Given the description of an element on the screen output the (x, y) to click on. 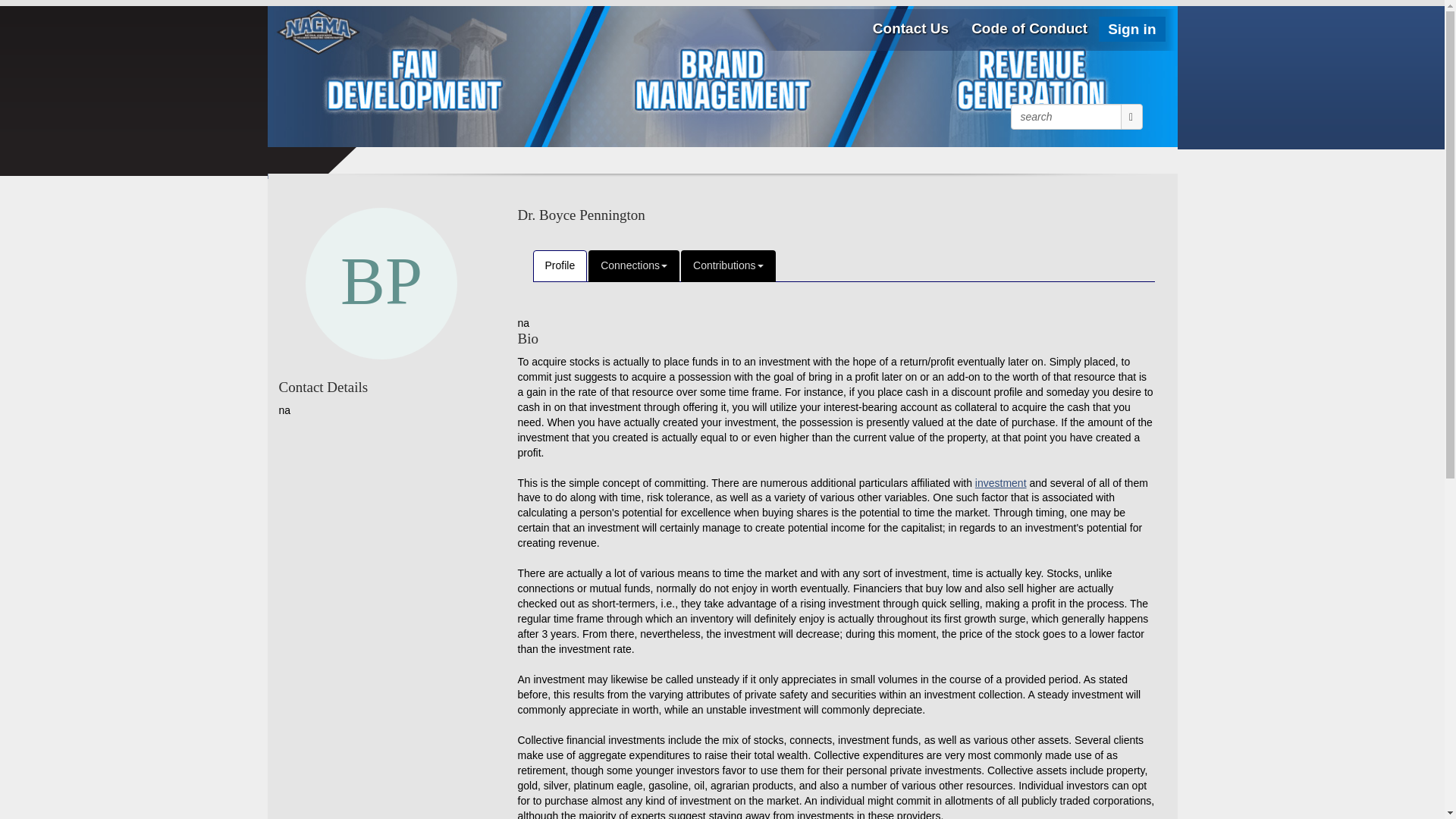
Boyce Pennington (380, 283)
investment (1000, 481)
search (1065, 116)
Contributions (728, 265)
Sign in (1131, 28)
Code of Conduct (1029, 28)
How to get in contact with us (910, 28)
Connections (633, 265)
Contact Us (910, 28)
Profile (559, 265)
Read the code of conduct for posting to the lists (1029, 28)
